Given the description of an element on the screen output the (x, y) to click on. 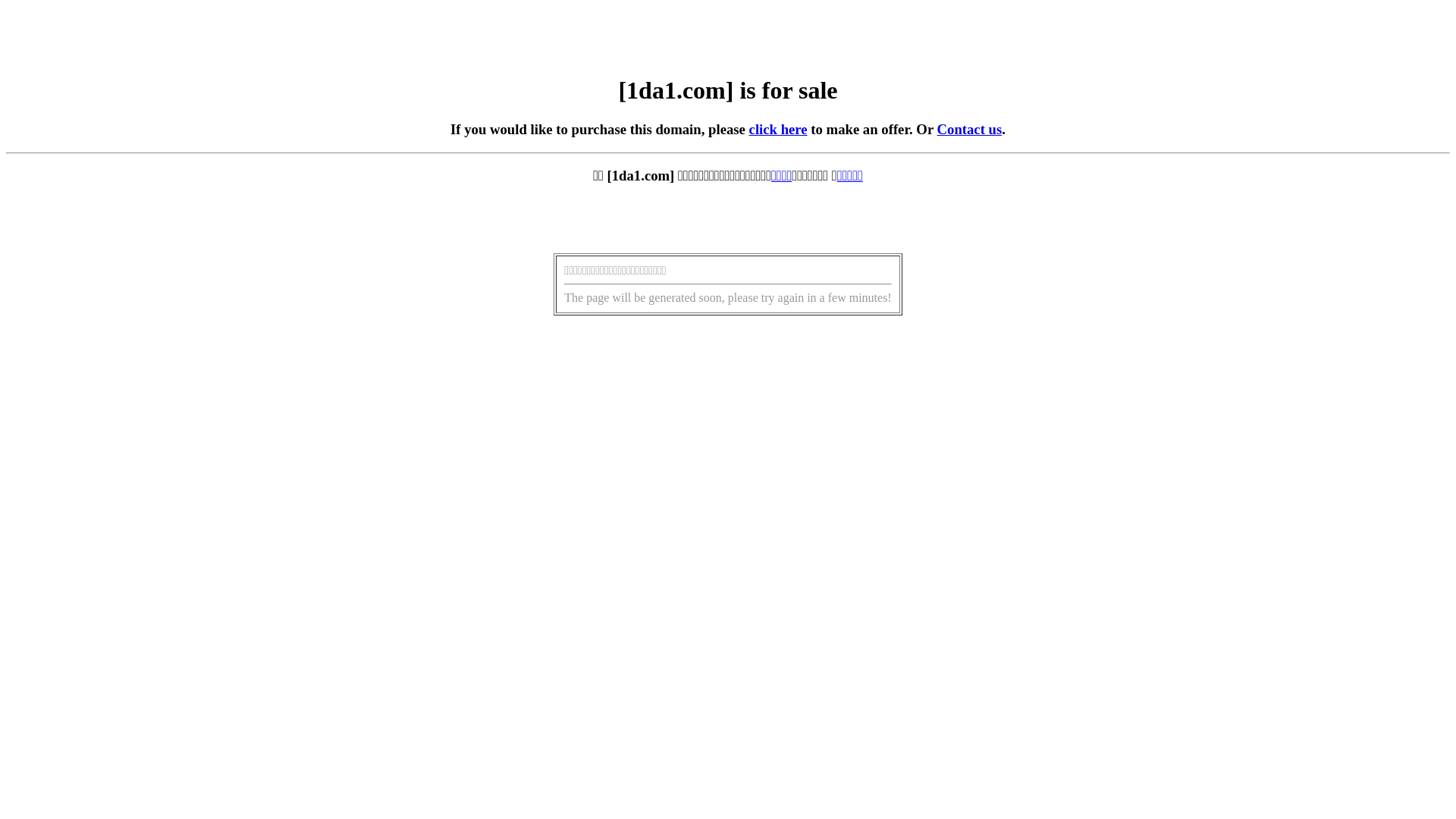
Contact us Element type: text (969, 129)
click here Element type: text (778, 129)
